Given the description of an element on the screen output the (x, y) to click on. 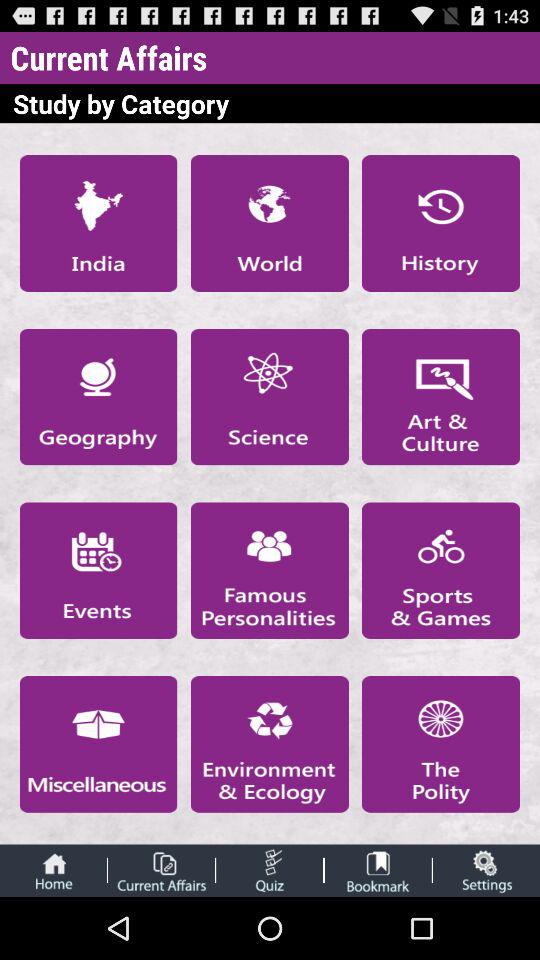
go to events (98, 570)
